Given the description of an element on the screen output the (x, y) to click on. 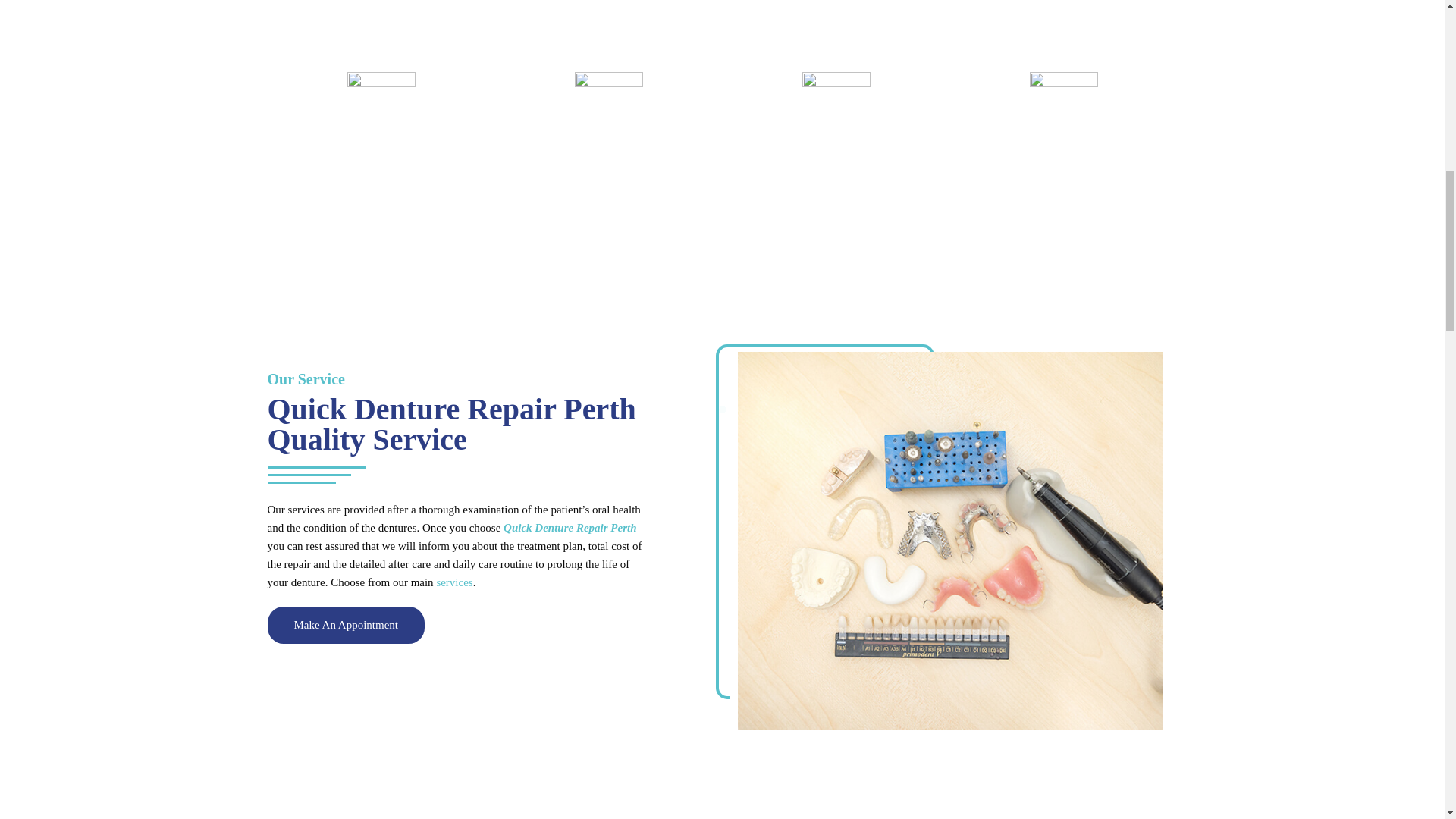
Make An Appointment (345, 624)
Quick Denture Repair Perth (569, 527)
services (453, 582)
